Given the description of an element on the screen output the (x, y) to click on. 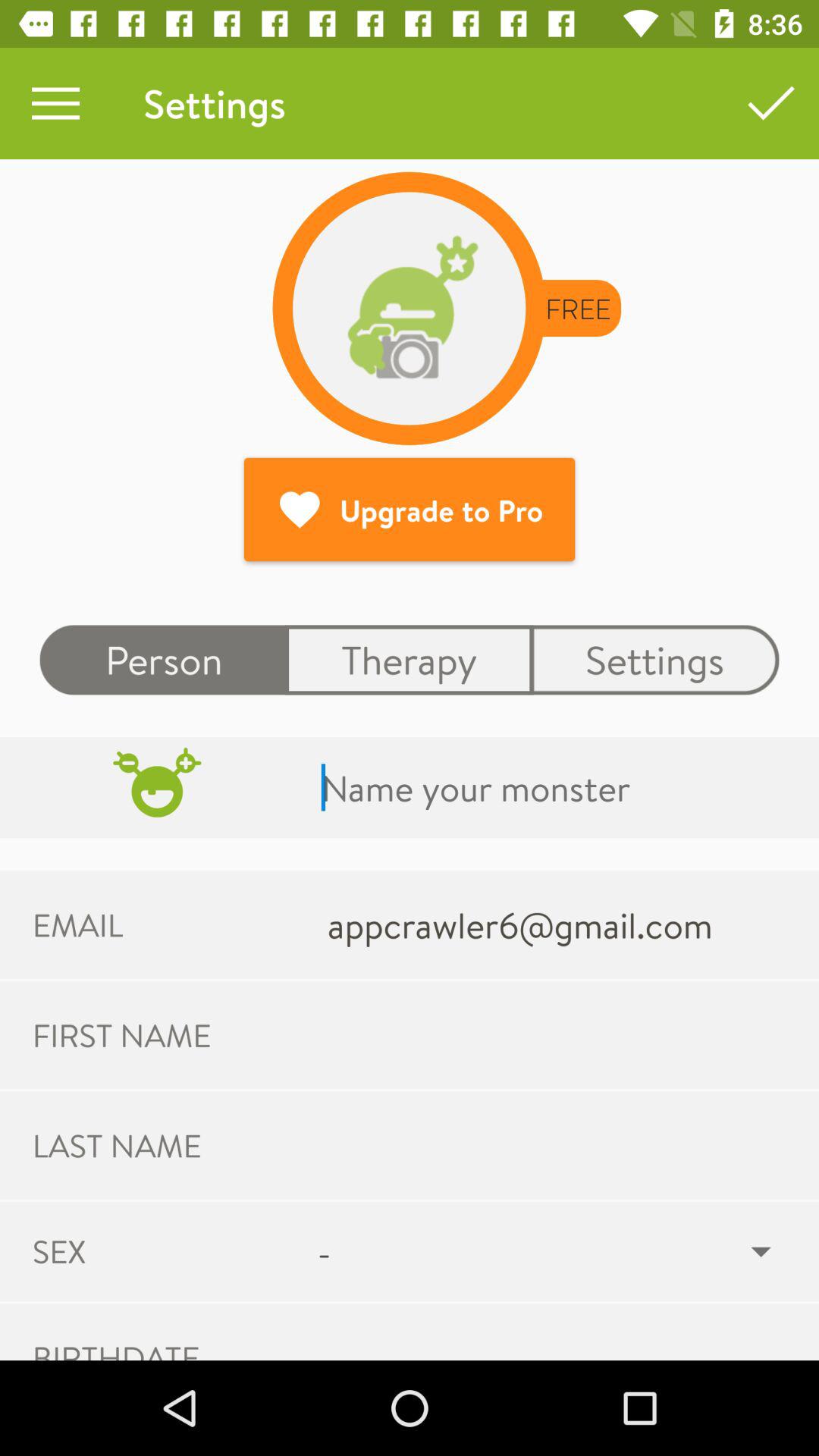
enter the last name (554, 1145)
